Given the description of an element on the screen output the (x, y) to click on. 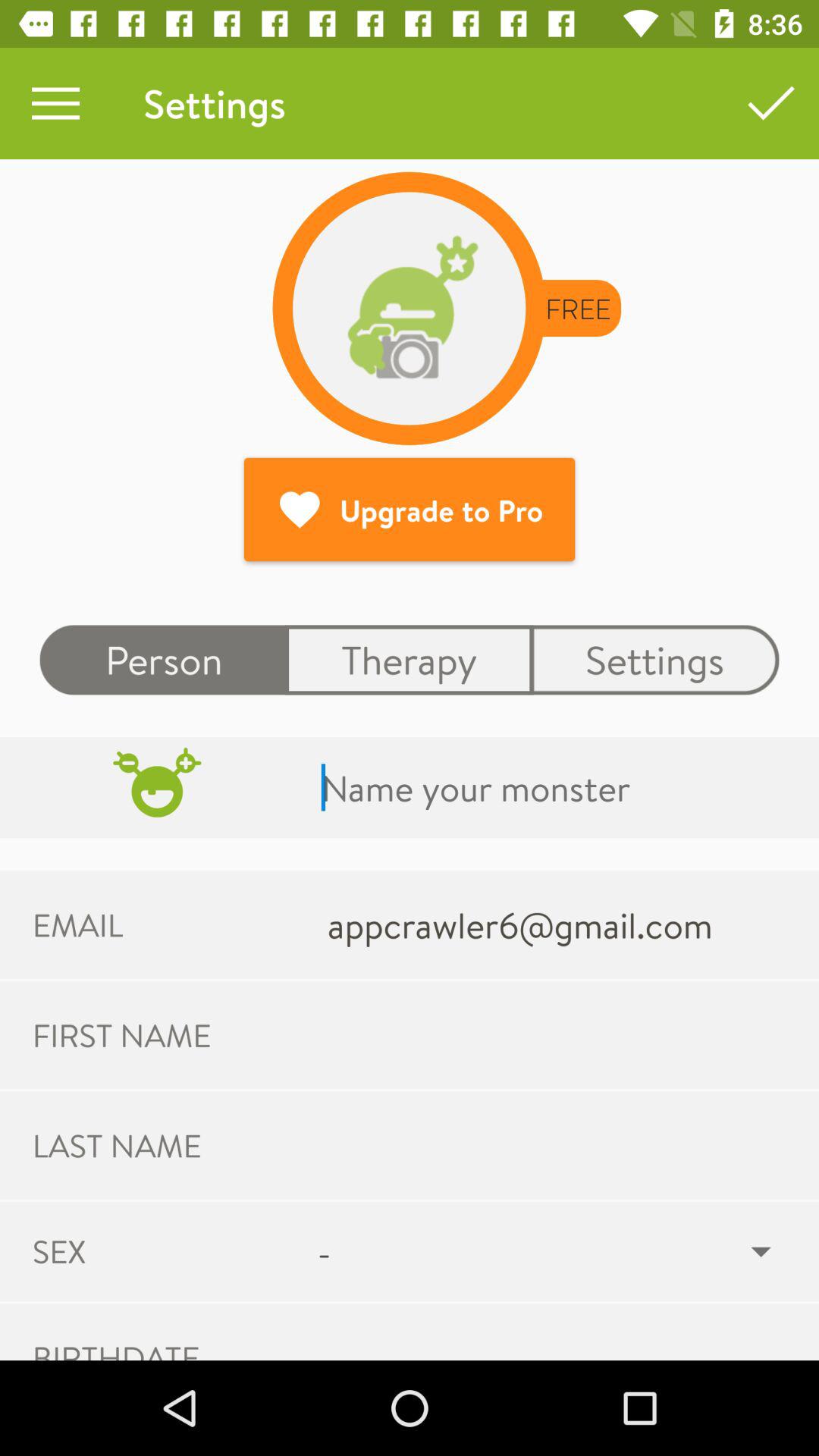
enter the last name (554, 1145)
